Given the description of an element on the screen output the (x, y) to click on. 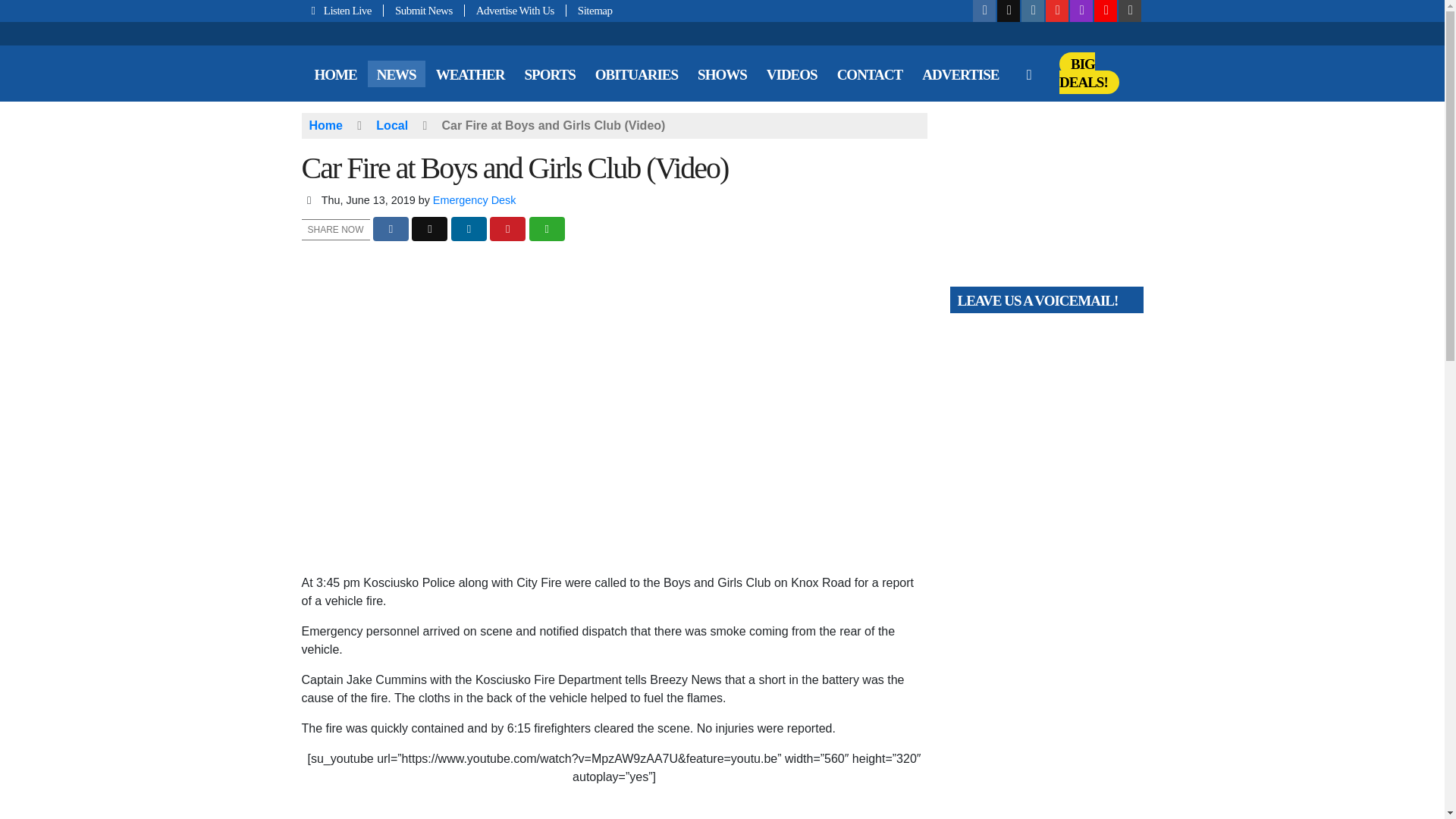
Follow us on Facebook (983, 11)
Listen Live (342, 10)
Submit News (424, 10)
Follow our Podcast (1081, 11)
Follow us on Instagram (1032, 11)
Follow us on Youtube (1056, 11)
Sitemap (589, 10)
Follow us on Soundcloud (1105, 11)
Follow us on X (1008, 11)
Advertise With Us (515, 10)
